Given the description of an element on the screen output the (x, y) to click on. 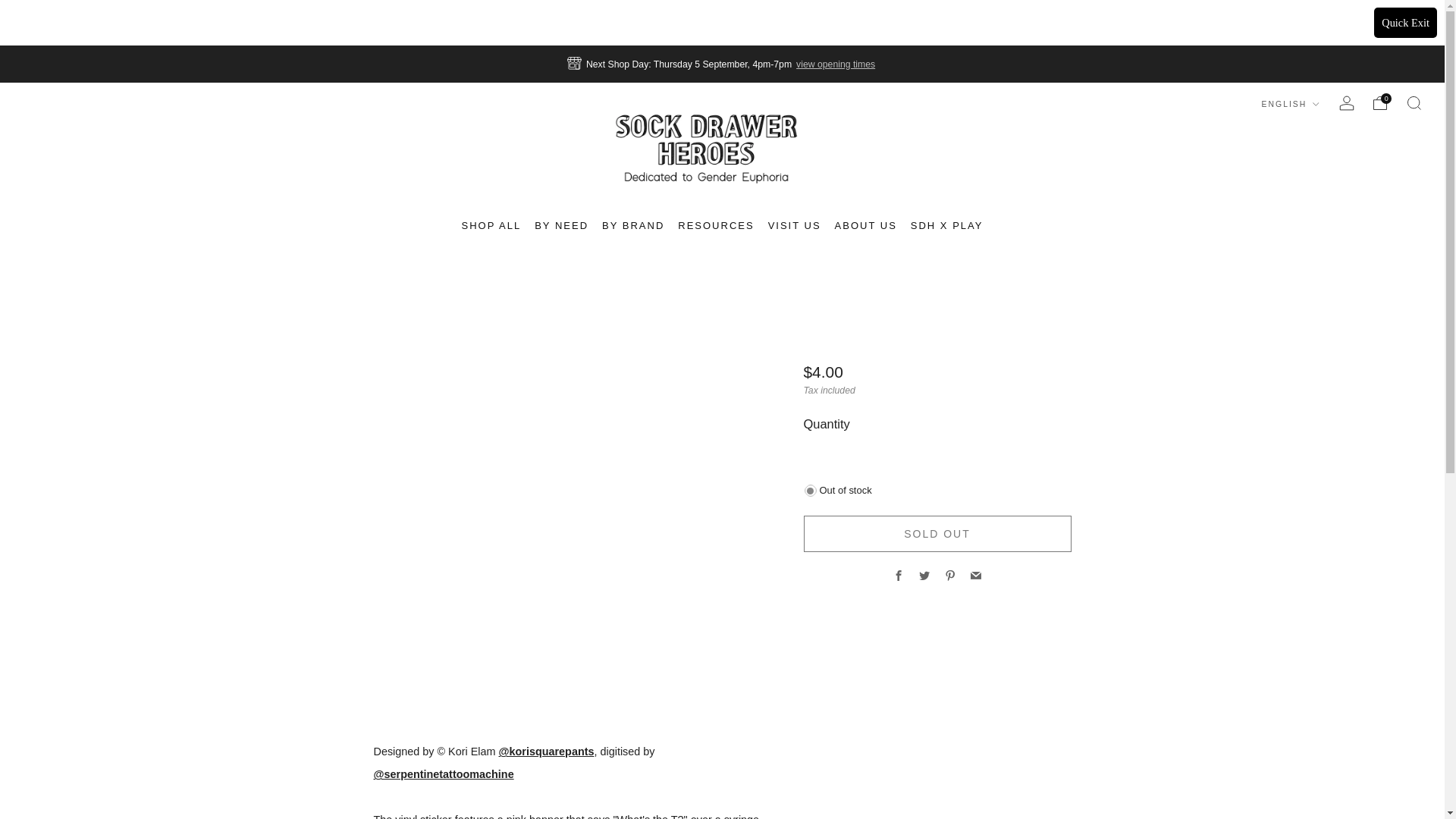
SHOP ALL (491, 225)
view opening times (835, 63)
BY NEED (561, 225)
Quick Exit (1405, 22)
